Given the description of an element on the screen output the (x, y) to click on. 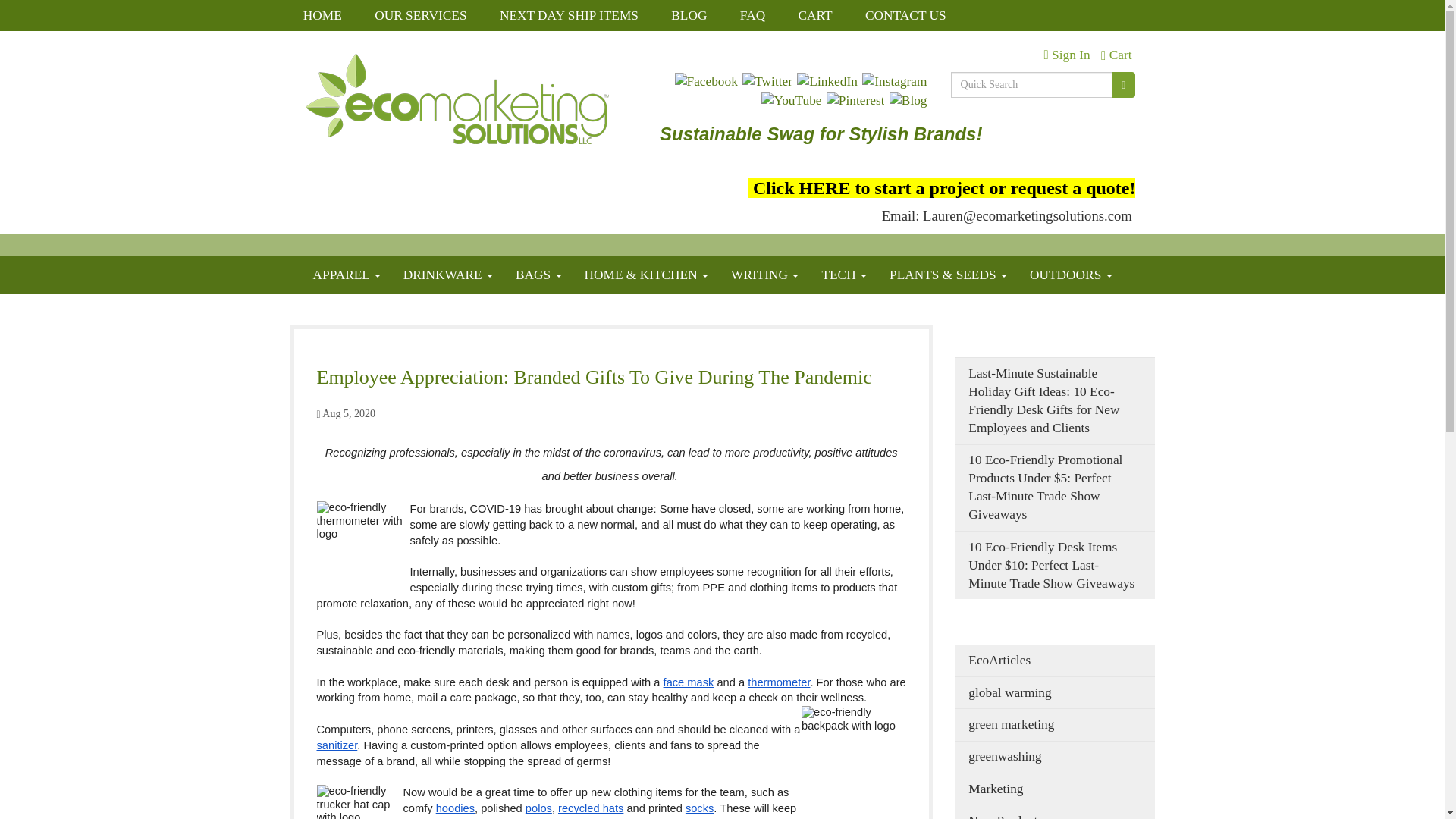
CART (817, 15)
Visit us on Twitter (767, 80)
OUR SERVICES (423, 15)
Visit us on Facebook (706, 80)
Visit us on LinkedIn (826, 80)
BLOG (692, 15)
Visit us on YouTube (791, 99)
CONTACT US (908, 15)
Sign In (1066, 54)
Visit our blog (908, 99)
